Given the description of an element on the screen output the (x, y) to click on. 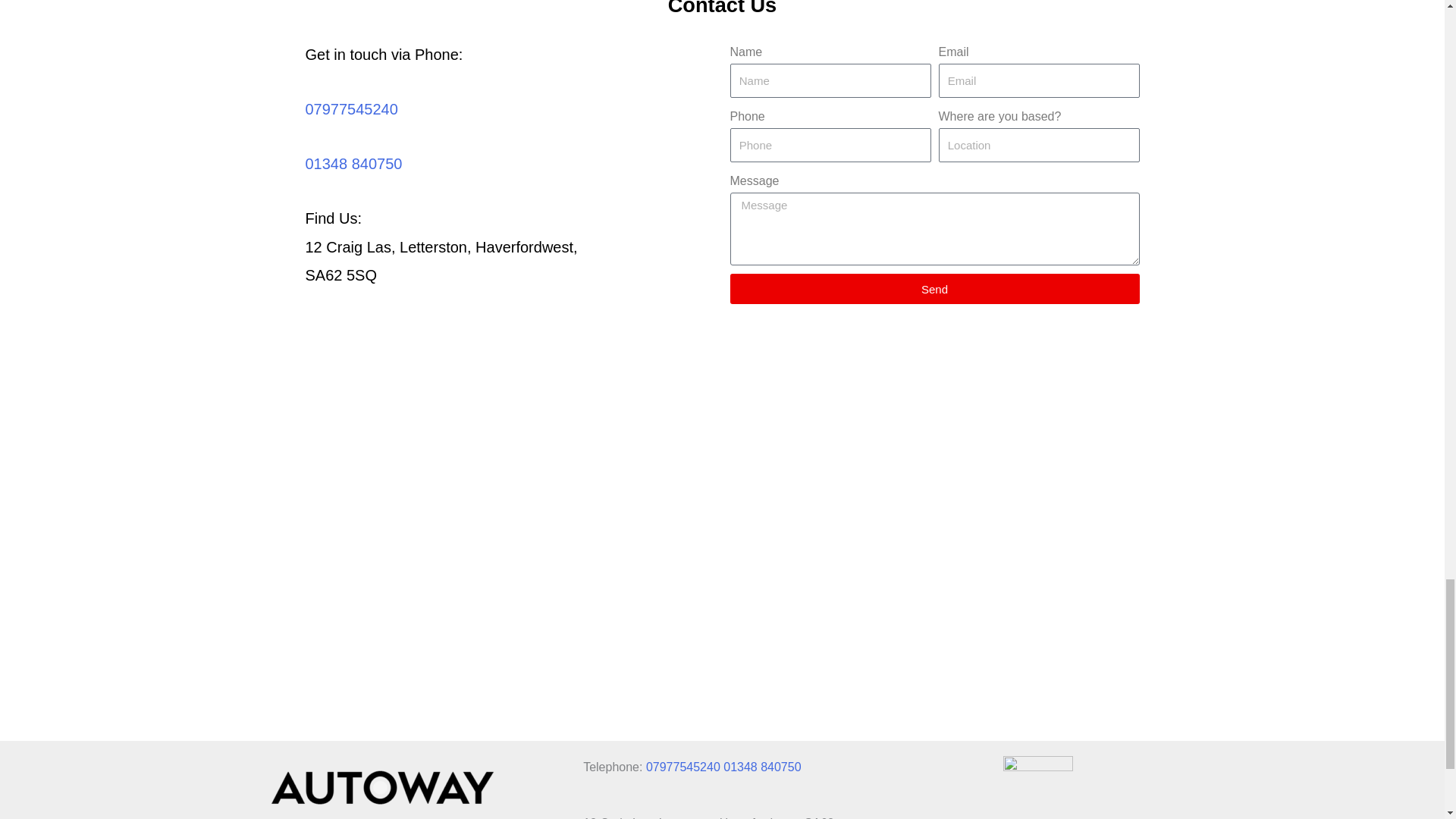
07977545240 (350, 108)
Send (933, 288)
07977545240 (683, 766)
01348 840750 (352, 163)
01348 840750 (761, 766)
